Given the description of an element on the screen output the (x, y) to click on. 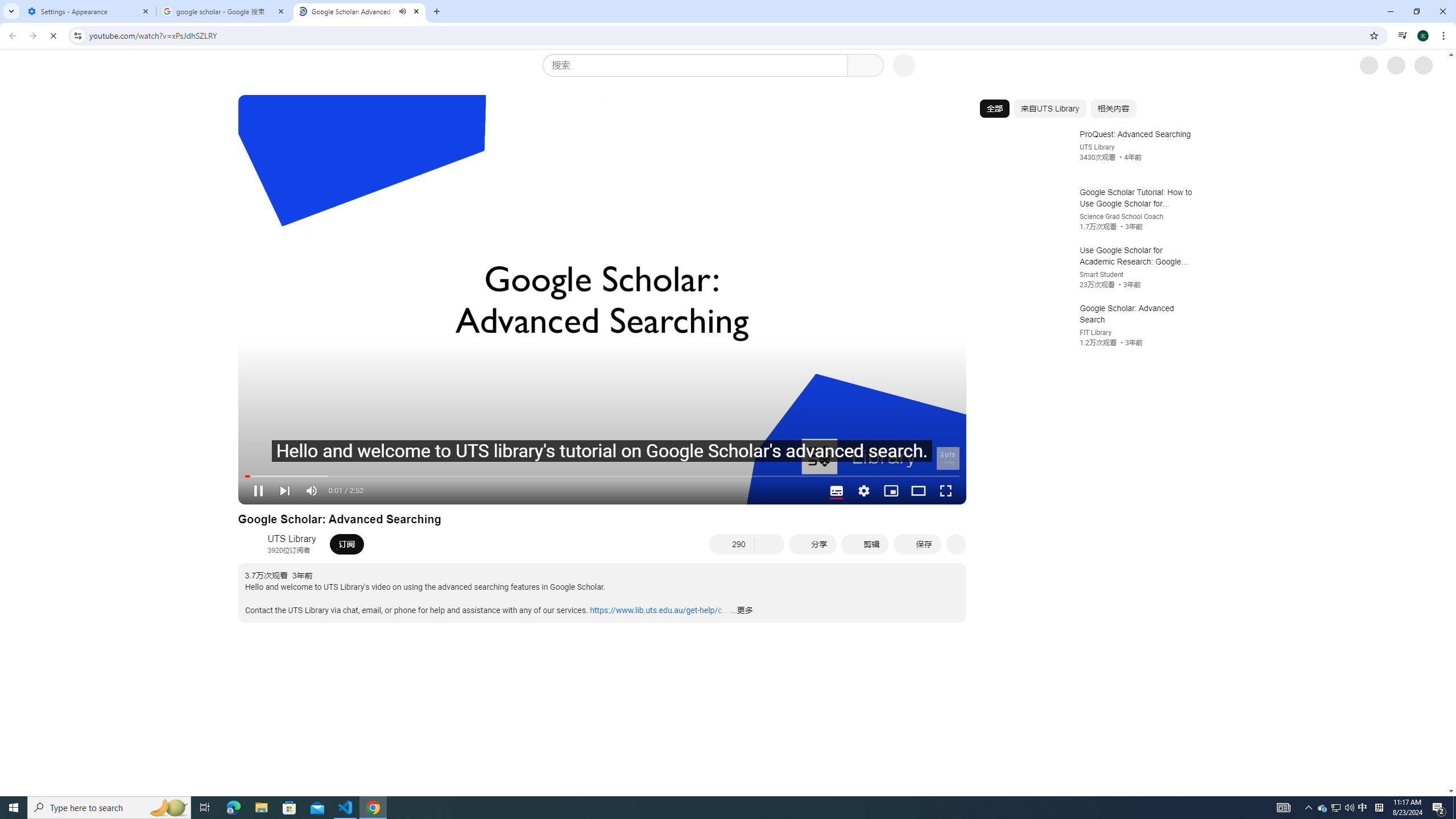
https://www.lib.uts.edu.au/get-help/c... (658, 609)
